Given the description of an element on the screen output the (x, y) to click on. 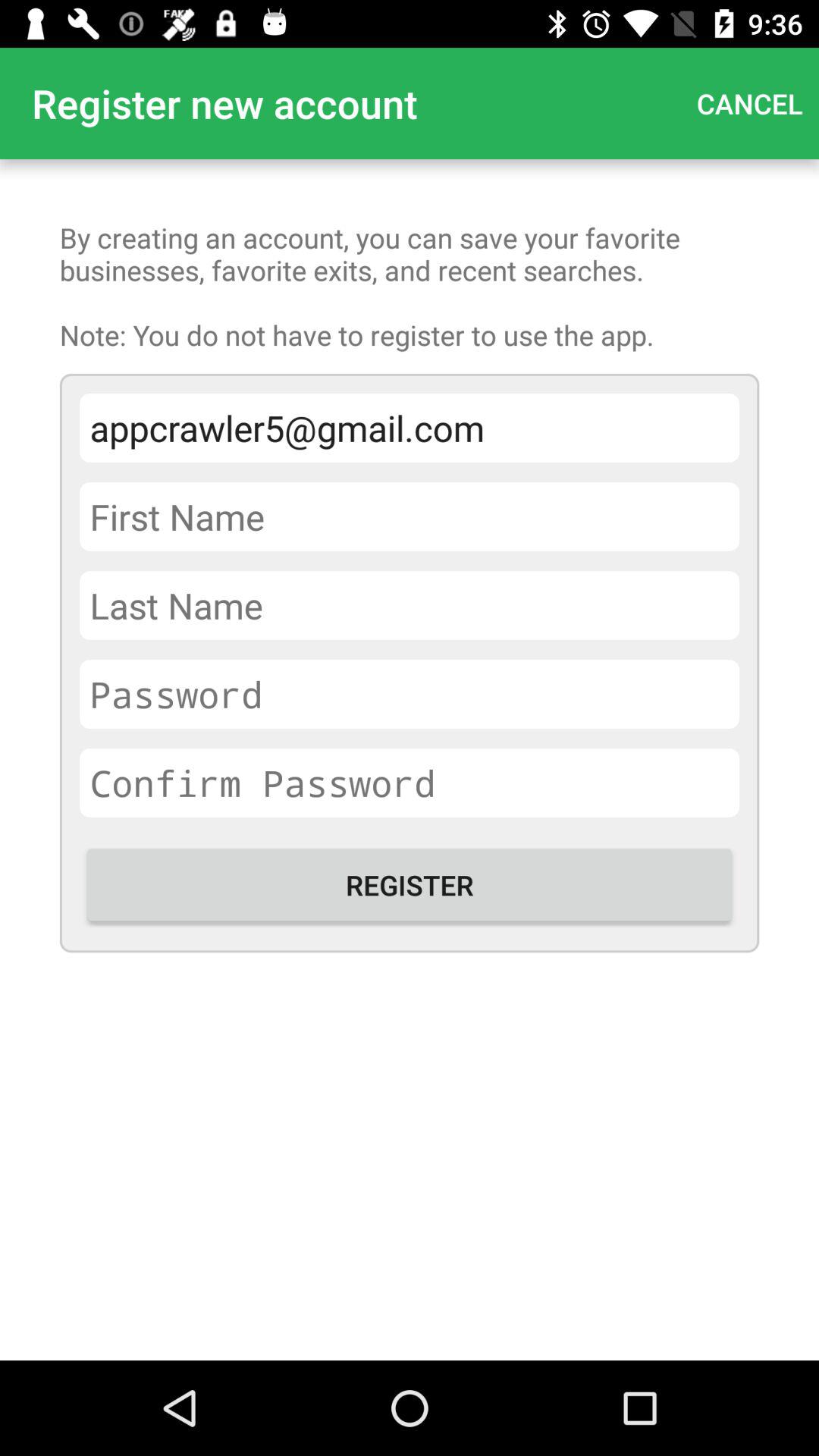
open the appcrawler5@gmail.com (409, 427)
